Given the description of an element on the screen output the (x, y) to click on. 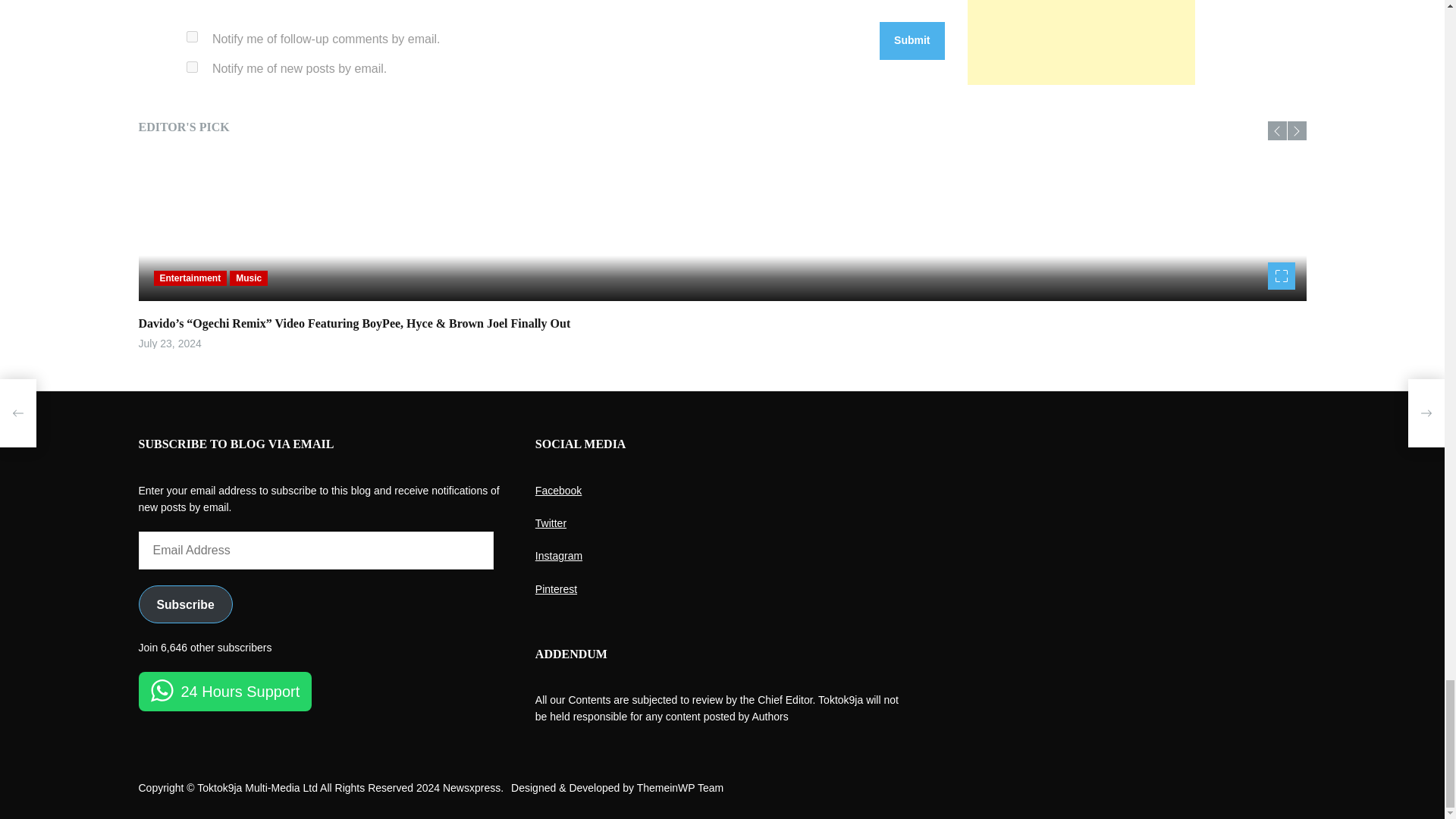
subscribe (192, 36)
subscribe (192, 66)
Submit (911, 40)
